Given the description of an element on the screen output the (x, y) to click on. 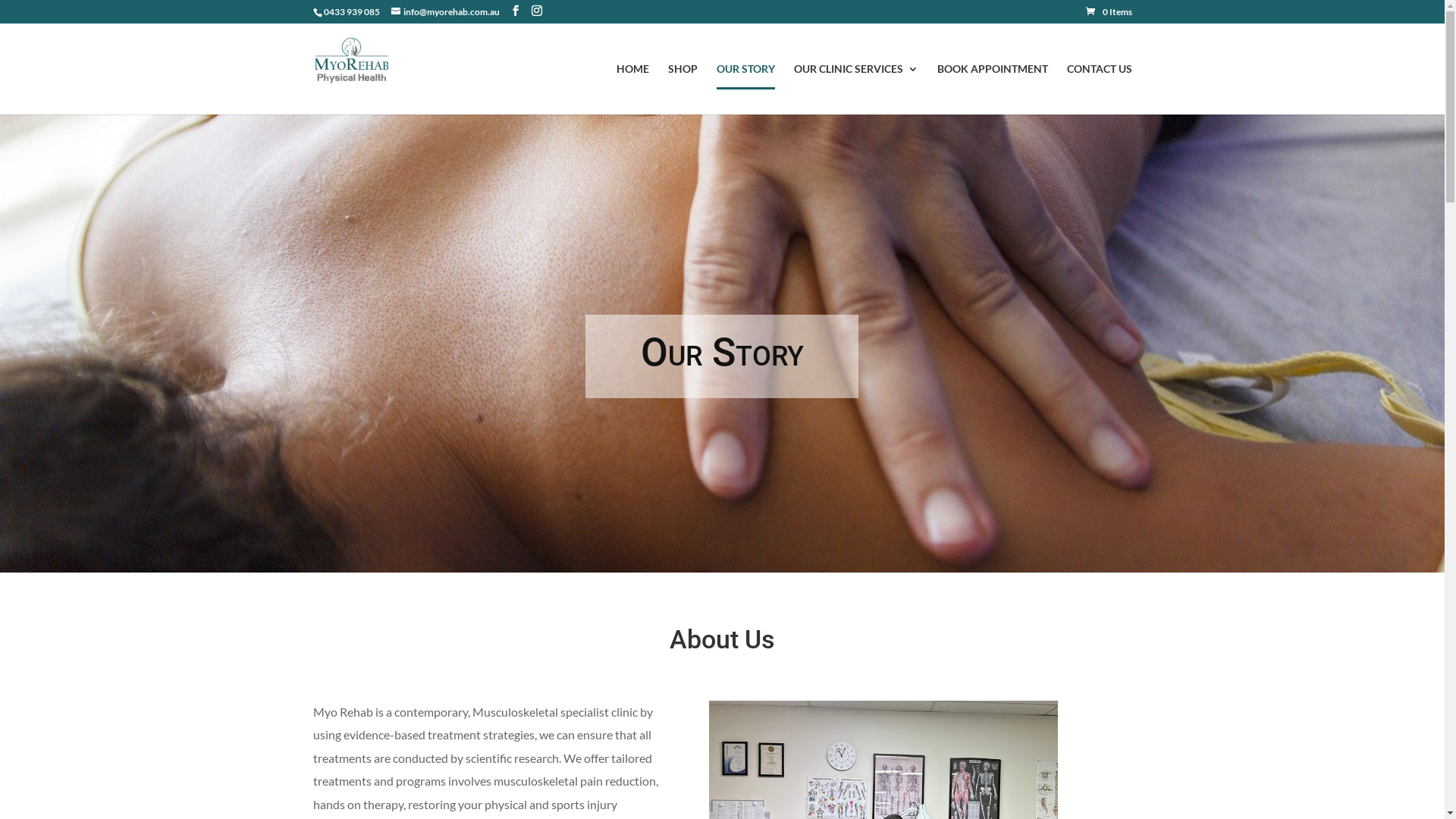
HOME Element type: text (631, 88)
info@myorehab.com.au Element type: text (445, 11)
0 Items Element type: text (1108, 11)
CONTACT US Element type: text (1098, 88)
OUR CLINIC SERVICES Element type: text (855, 88)
OUR STORY Element type: text (744, 88)
SHOP Element type: text (681, 88)
BOOK APPOINTMENT Element type: text (992, 88)
